Given the description of an element on the screen output the (x, y) to click on. 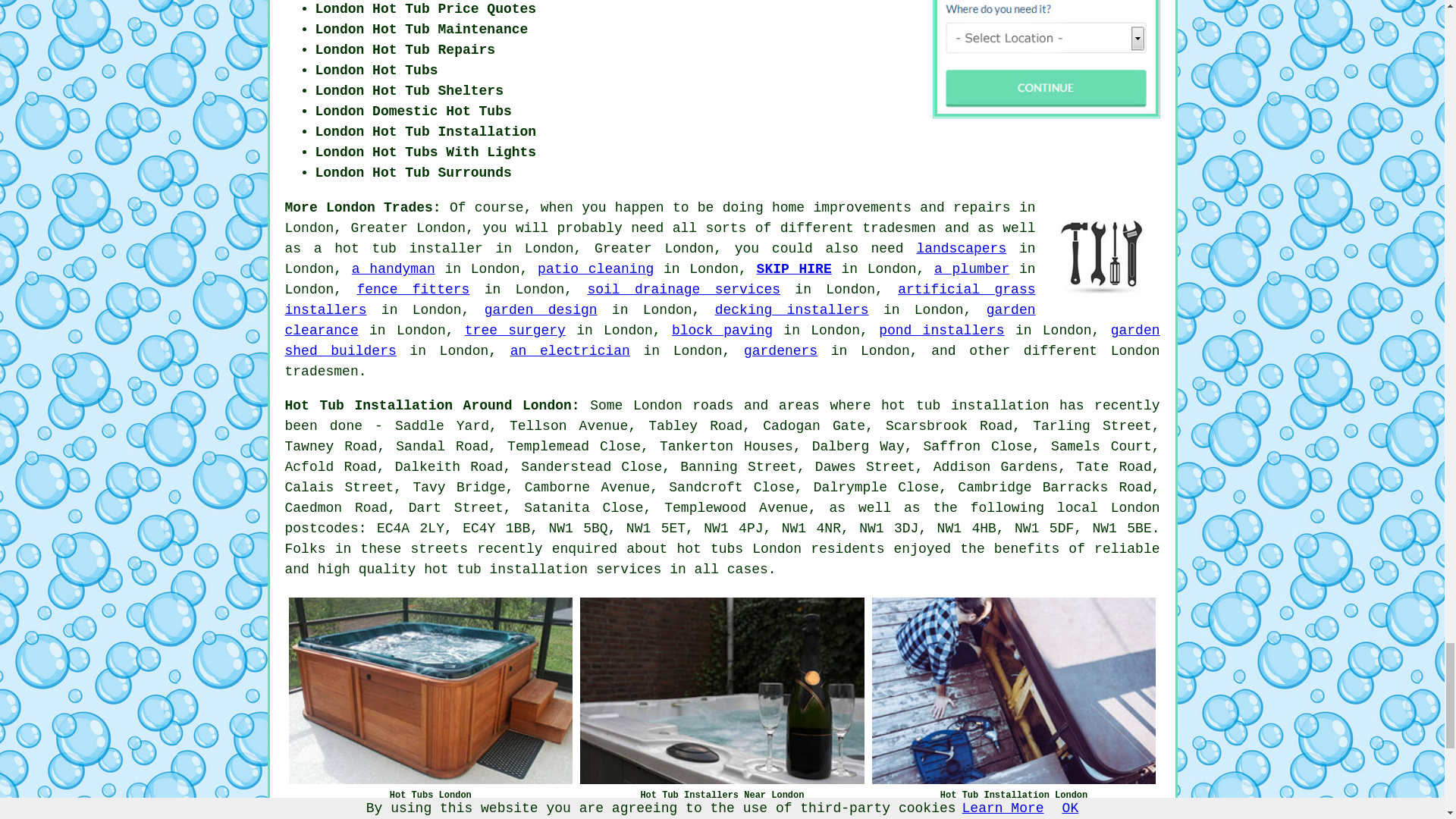
Hot Tubs London (430, 690)
Hot Tub Installation London UK (1014, 690)
More London Tradesmen (1103, 255)
Hot Tub Installers Near Me London (721, 690)
